Given the description of an element on the screen output the (x, y) to click on. 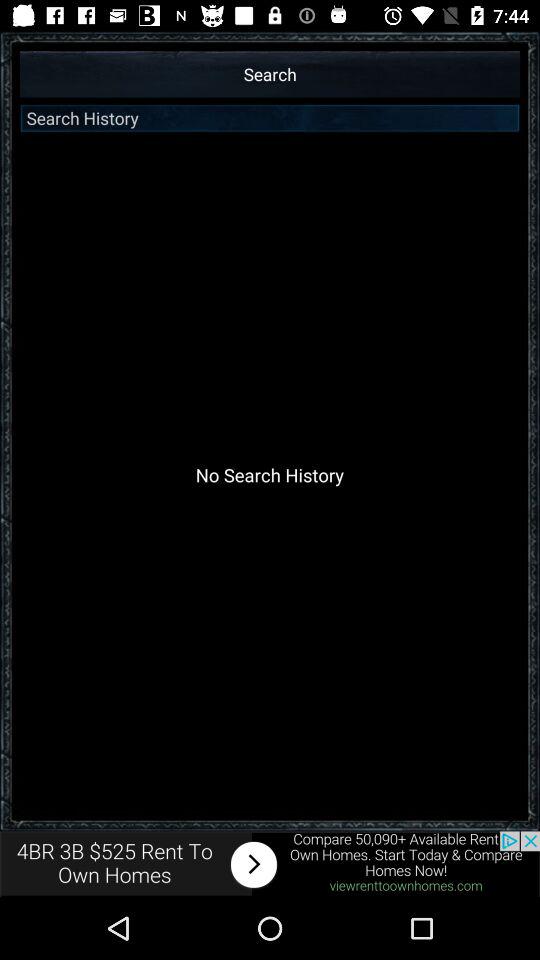
click on the advertisement (270, 864)
